Given the description of an element on the screen output the (x, y) to click on. 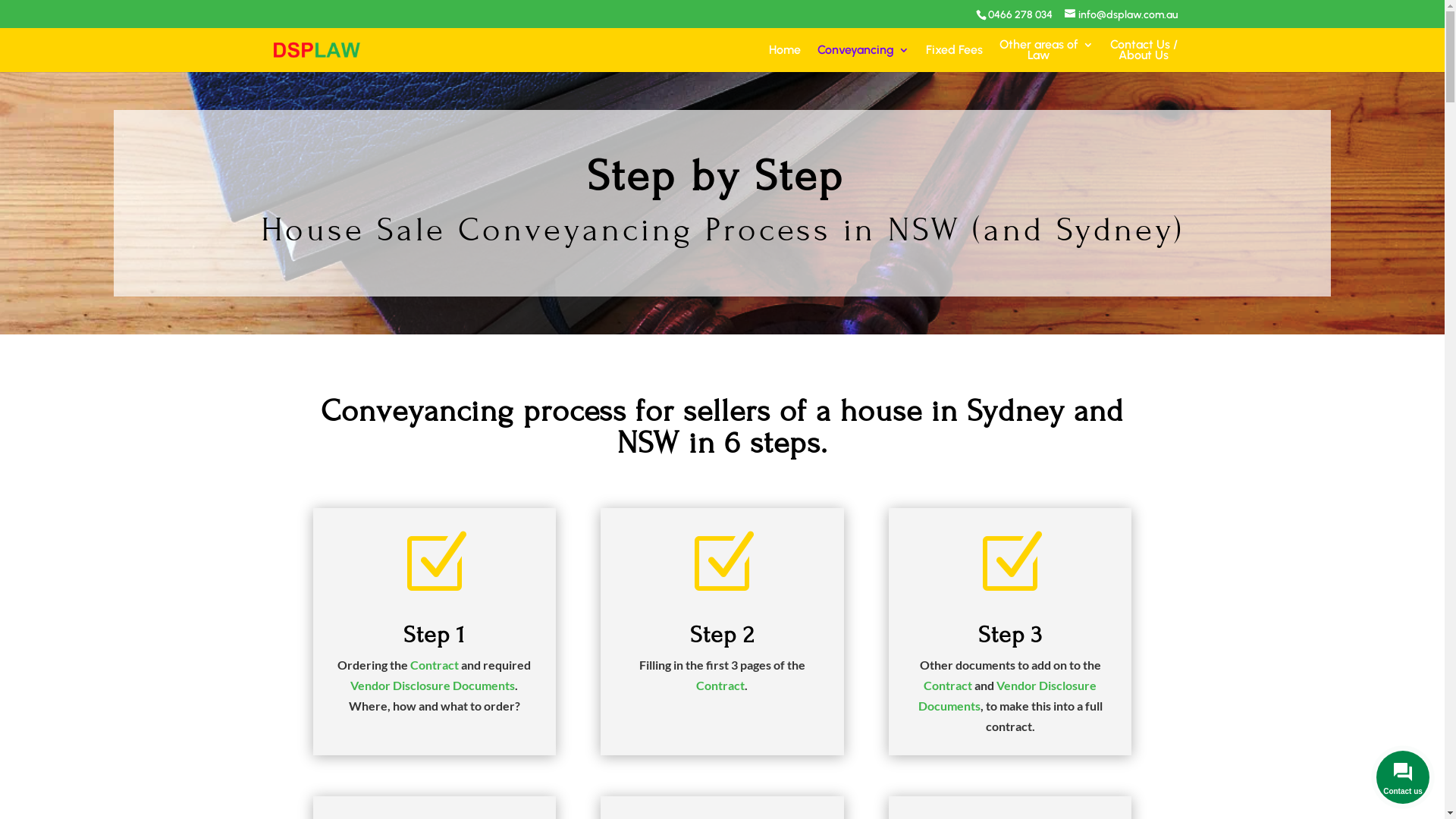
Other areas of
Law Element type: text (1046, 55)
Step 1 Element type: text (433, 633)
Conveyancing Element type: text (863, 55)
Z Element type: text (721, 562)
Step 2 Element type: text (722, 633)
Z Element type: text (1009, 562)
info@dsplaw.com.au Element type: text (1120, 13)
Fixed Fees Element type: text (953, 55)
0466 278 034 Element type: text (1019, 13)
Contact Us /
About Us Element type: text (1143, 55)
Step 3 Element type: text (1010, 633)
Home Element type: text (784, 55)
Z Element type: text (434, 562)
